Given the description of an element on the screen output the (x, y) to click on. 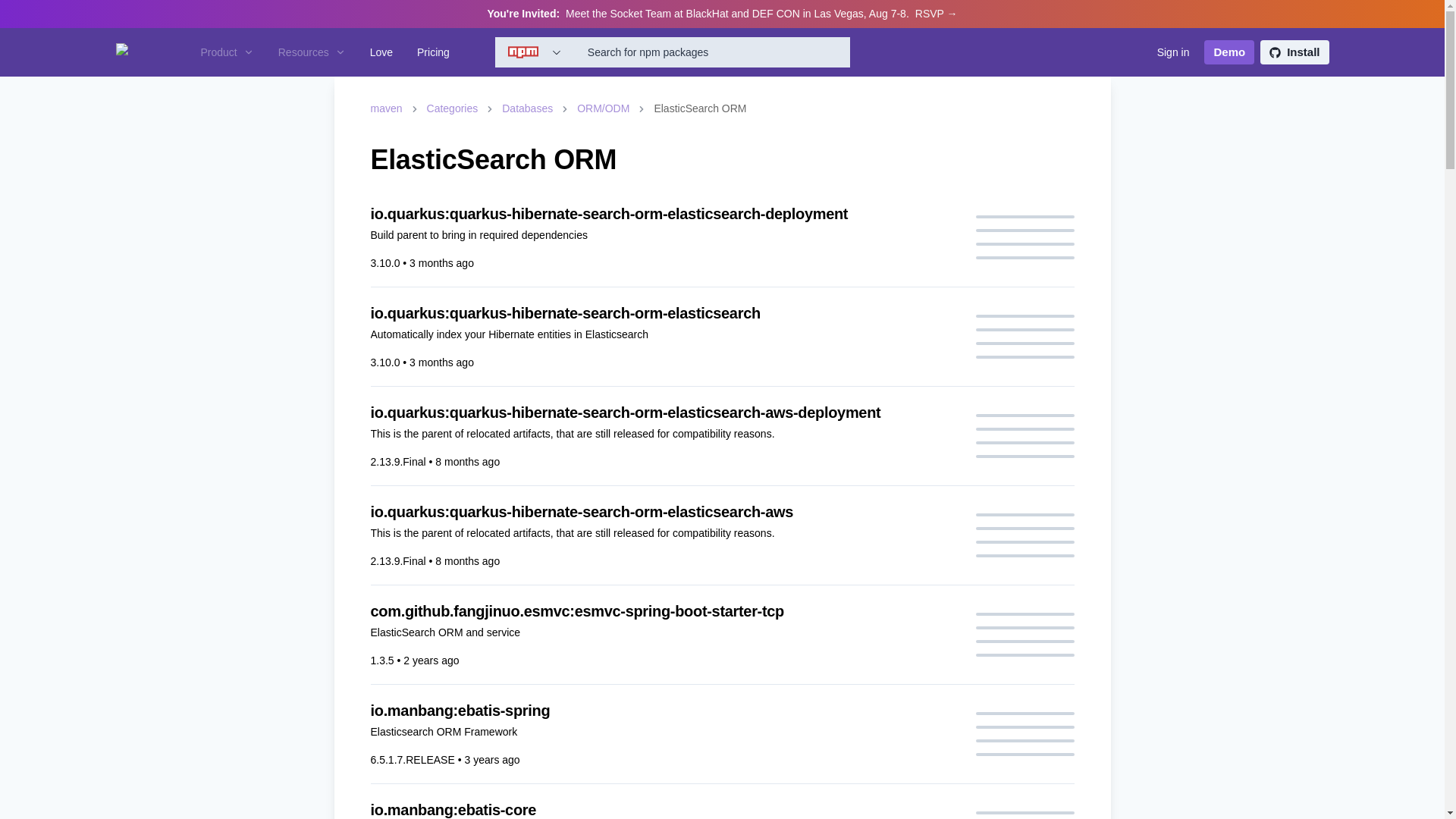
io.quarkus:quarkus-hibernate-search-orm-elasticsearch-aws (662, 511)
io.quarkus:quarkus-hibernate-search-orm-elasticsearch (662, 312)
Categories (452, 108)
Pricing (432, 51)
io.manbang:ebatis-core (662, 809)
Product (226, 51)
Love (381, 51)
Demo (1228, 52)
Install (1293, 52)
maven (385, 108)
com.github.fangjinuo.esmvc:esmvc-spring-boot-starter-tcp (662, 610)
Sign in (1173, 51)
io.manbang:ebatis-spring (662, 710)
